Given the description of an element on the screen output the (x, y) to click on. 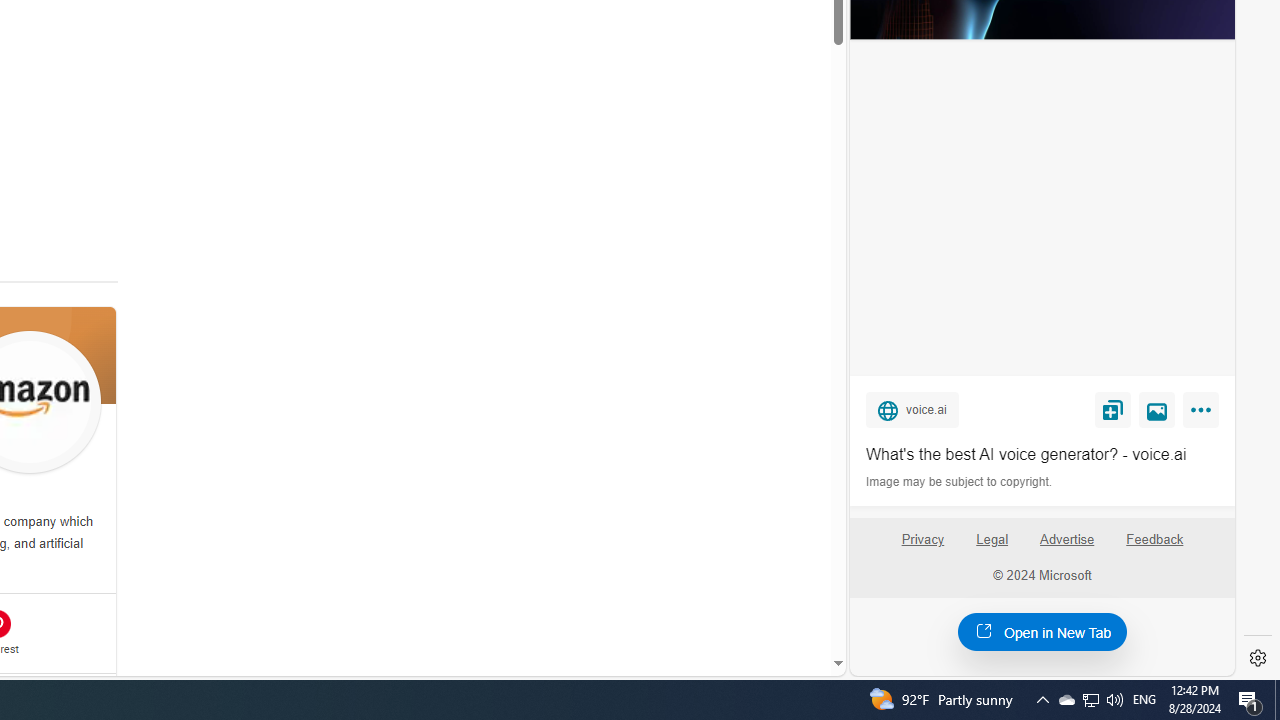
Legal (992, 547)
AutomationID: mfa_root (762, 603)
voice.ai (912, 409)
Open in New Tab (1091, 699)
Tray Input Indicator - English (United States) (1042, 631)
View image (1144, 699)
Action Center, 1 new notification (1157, 409)
